Given the description of an element on the screen output the (x, y) to click on. 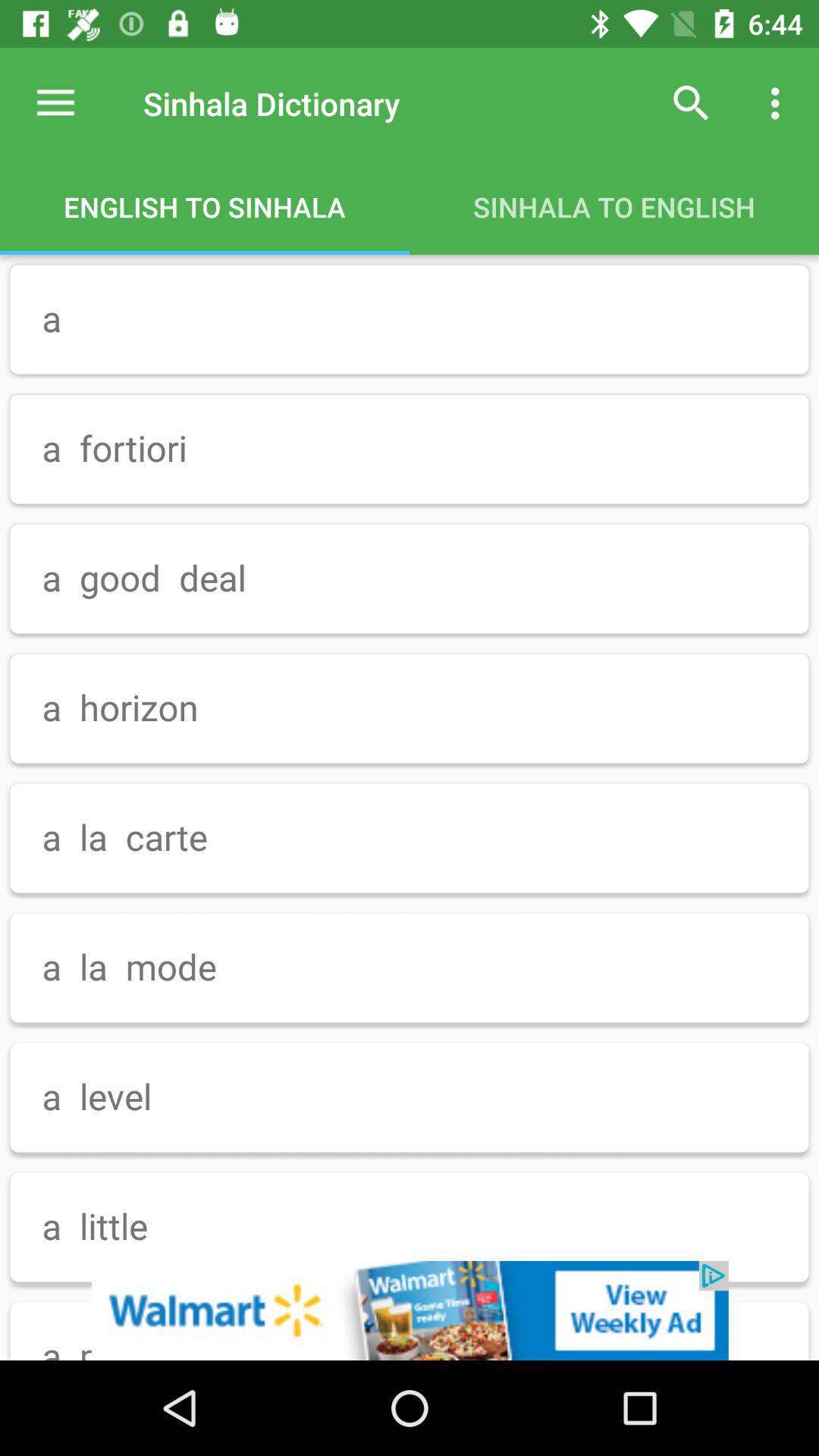
go to advertisement website (409, 1310)
